Given the description of an element on the screen output the (x, y) to click on. 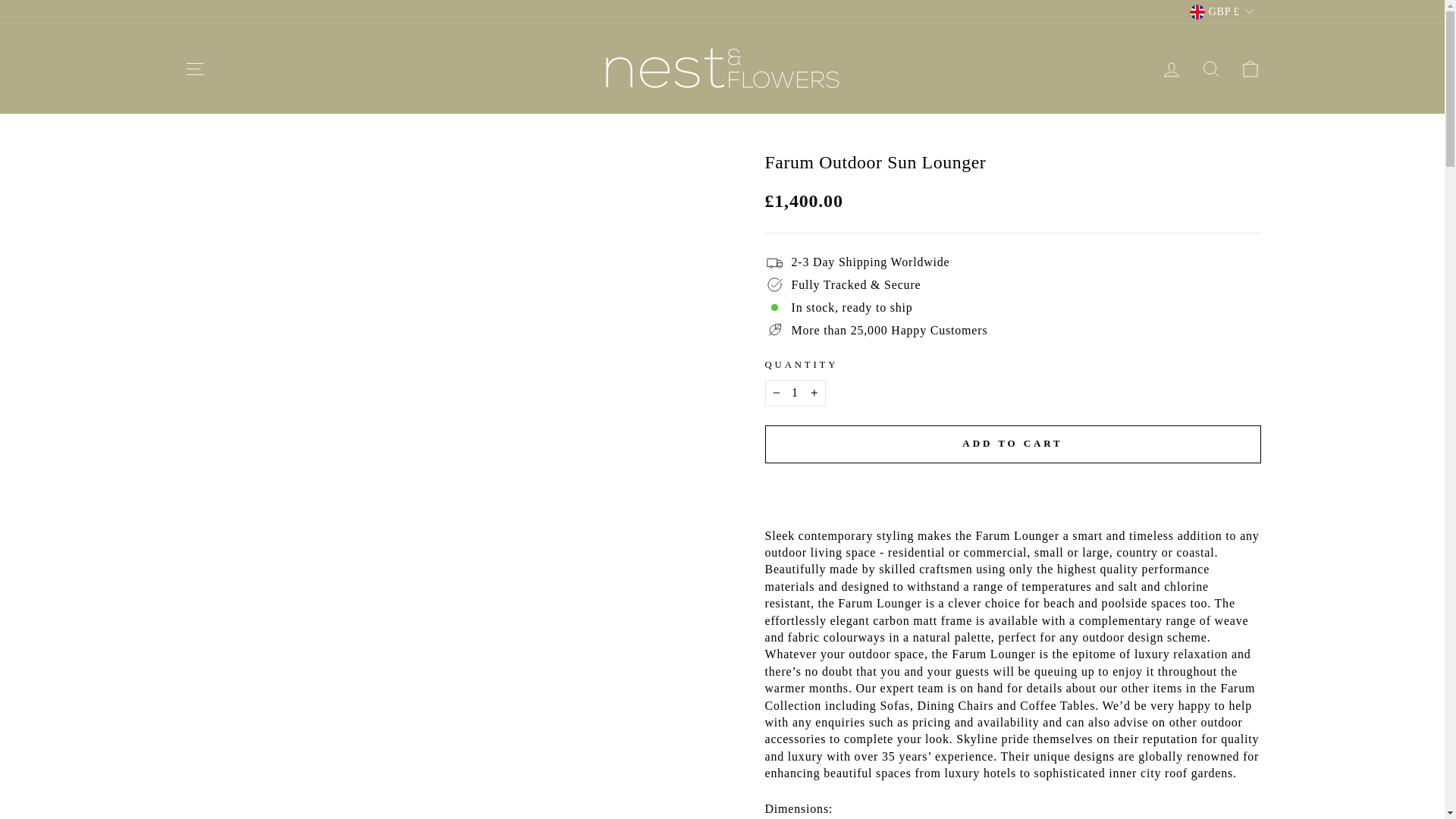
1 (794, 392)
